Given the description of an element on the screen output the (x, y) to click on. 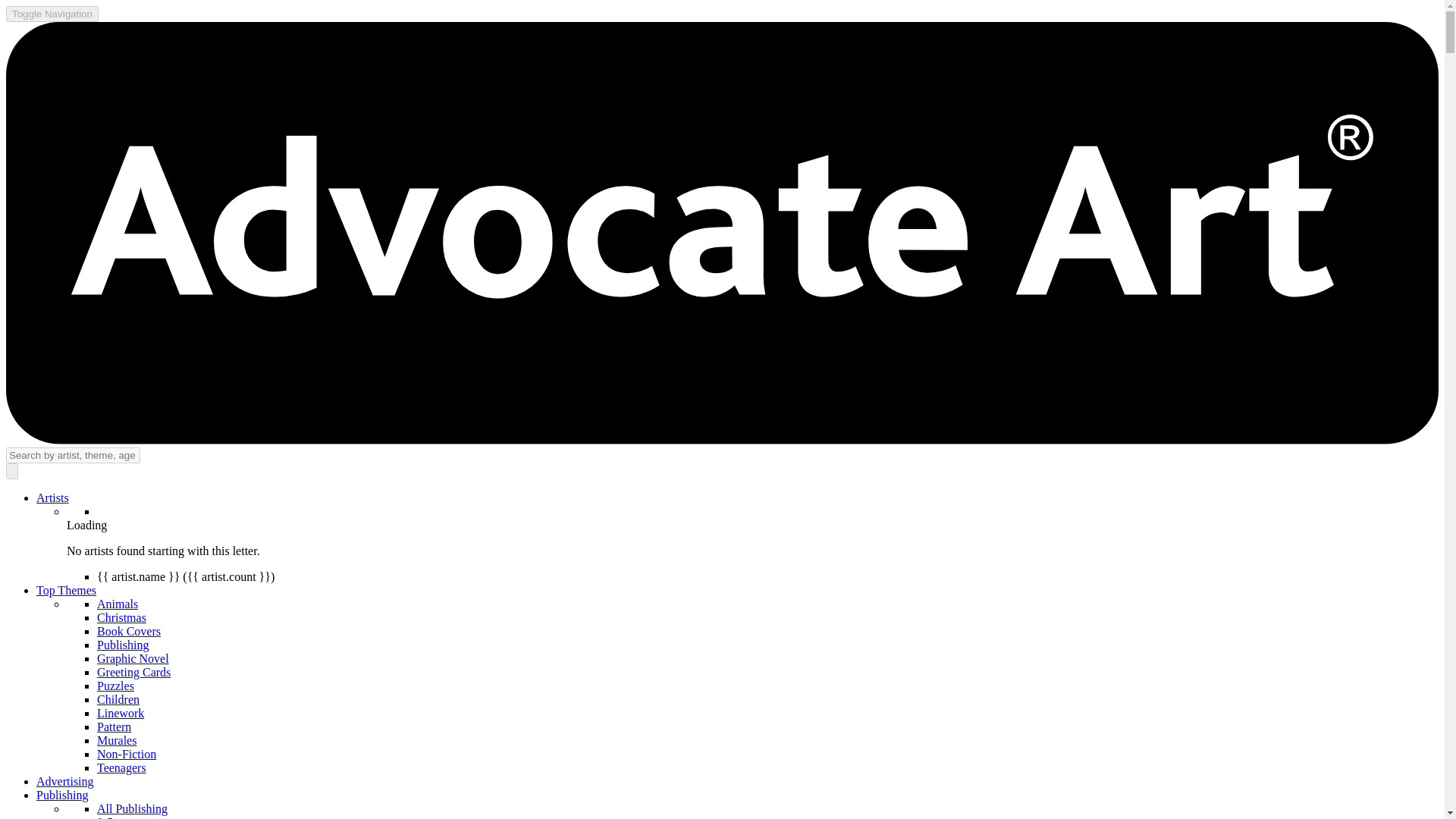
Advertising (65, 780)
Publishing (61, 794)
All Publishing (132, 808)
Toggle Navigation (52, 13)
Linework (120, 712)
Top Themes (66, 590)
Murales (116, 739)
0-5 years (119, 817)
Publishing (122, 644)
Christmas (122, 617)
